Given the description of an element on the screen output the (x, y) to click on. 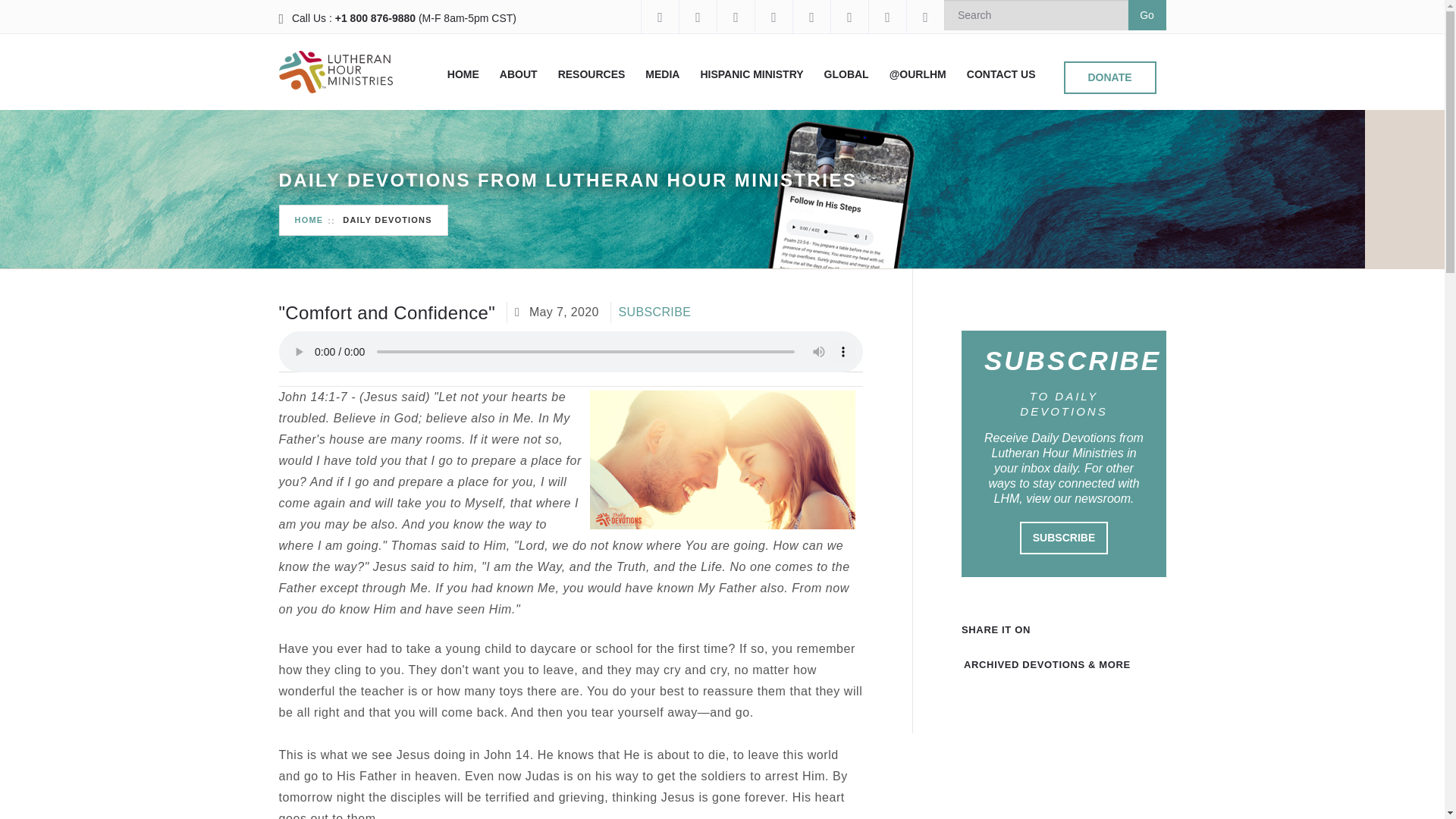
Lutheran Hour Ministries (336, 71)
Shop Lutheran Hour Ministries (924, 16)
Resources and Training (591, 74)
HISPANIC MINISTRY (751, 74)
HOME (462, 74)
Lutheran Hour Ministries Instagram (697, 16)
Go (1147, 15)
CONTACT US (1000, 74)
Go (1147, 15)
RESOURCES (591, 74)
